Given the description of an element on the screen output the (x, y) to click on. 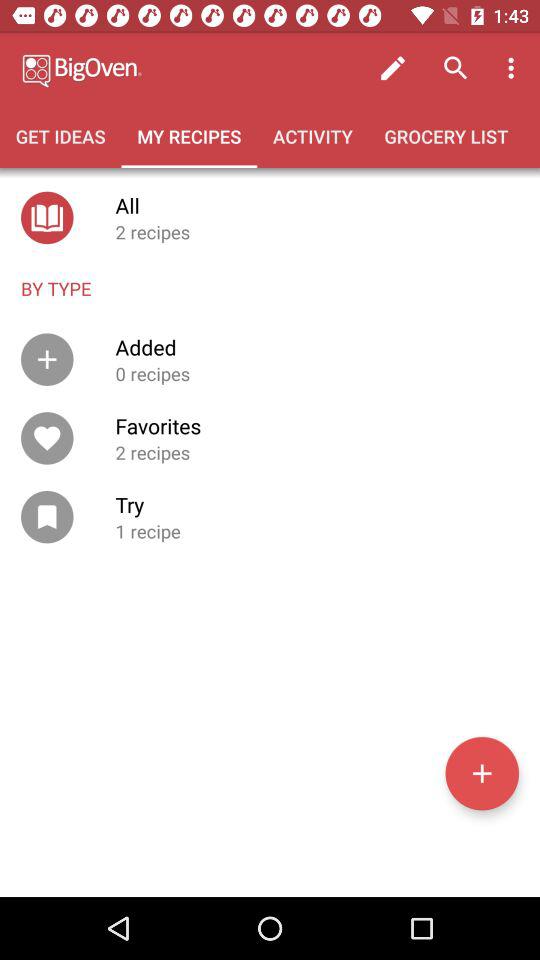
launch item below 1 recipe icon (482, 773)
